Given the description of an element on the screen output the (x, y) to click on. 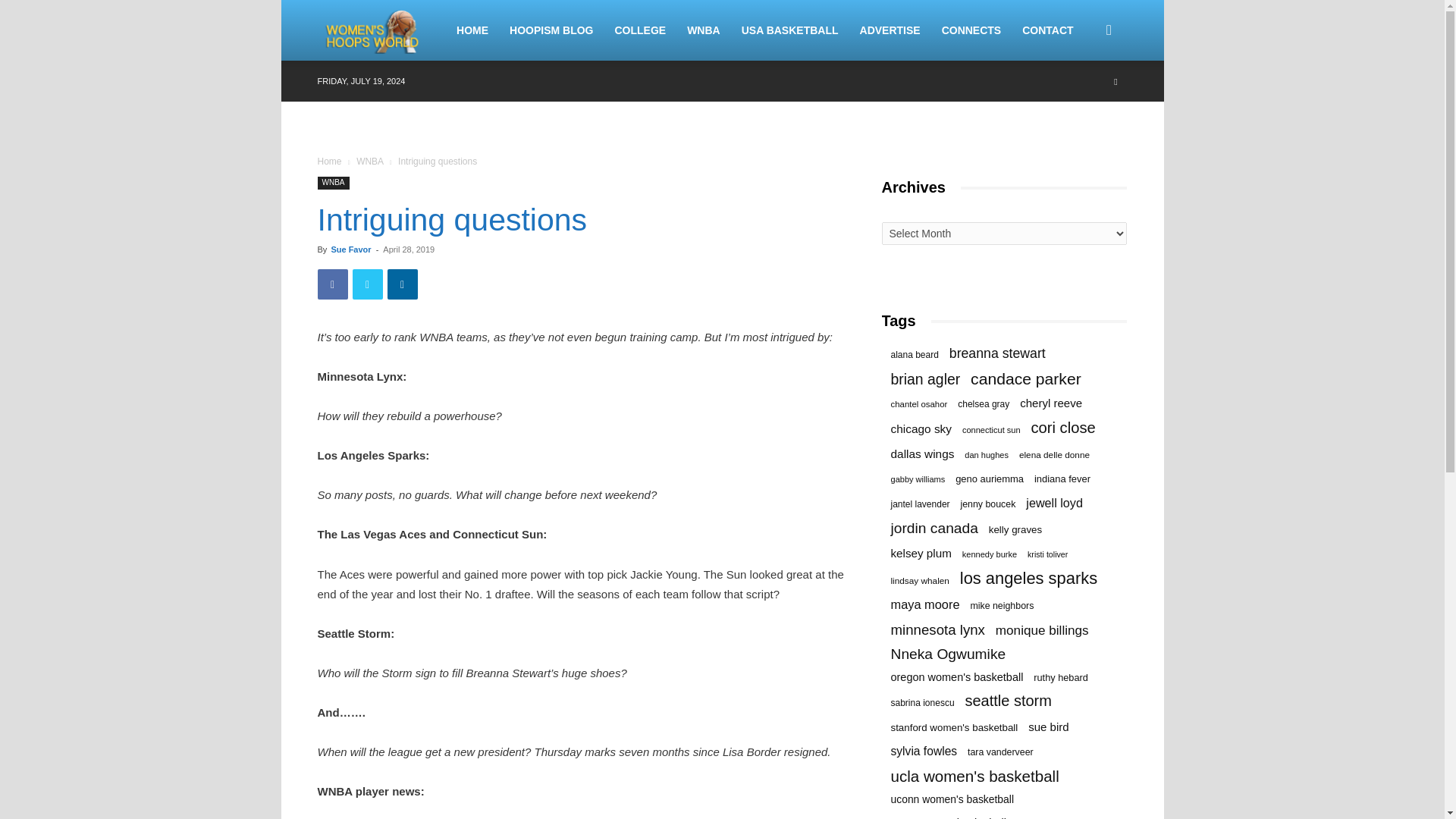
Home (328, 161)
WNBA (333, 182)
COLLEGE (640, 30)
Search (1085, 102)
USA BASKETBALL (789, 30)
Women's Hoops World (381, 30)
Womens Hoops World (373, 30)
ADVERTISE (889, 30)
Linkedin (401, 284)
HOOPISM BLOG (551, 30)
Sue Favor (350, 248)
CONNECTS (971, 30)
Facebook (332, 284)
WNBA (703, 30)
View all posts in WNBA (369, 161)
